Given the description of an element on the screen output the (x, y) to click on. 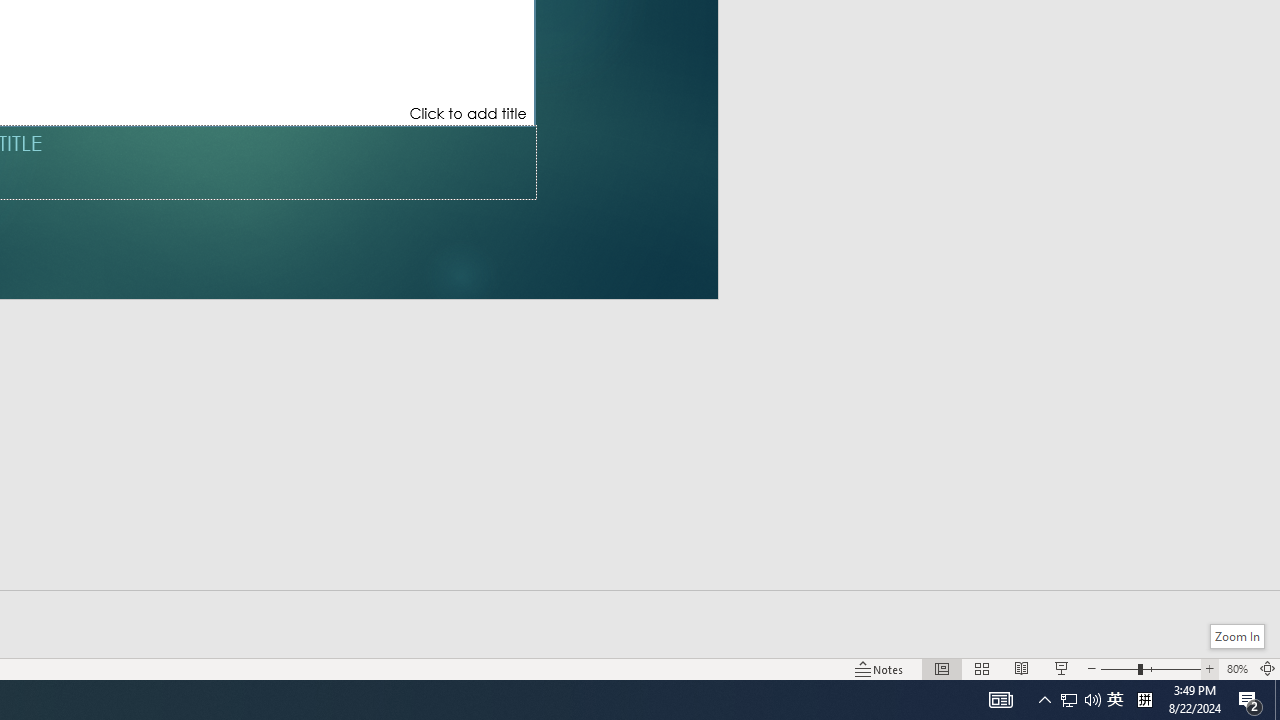
Zoom 80% (1236, 668)
